Given the description of an element on the screen output the (x, y) to click on. 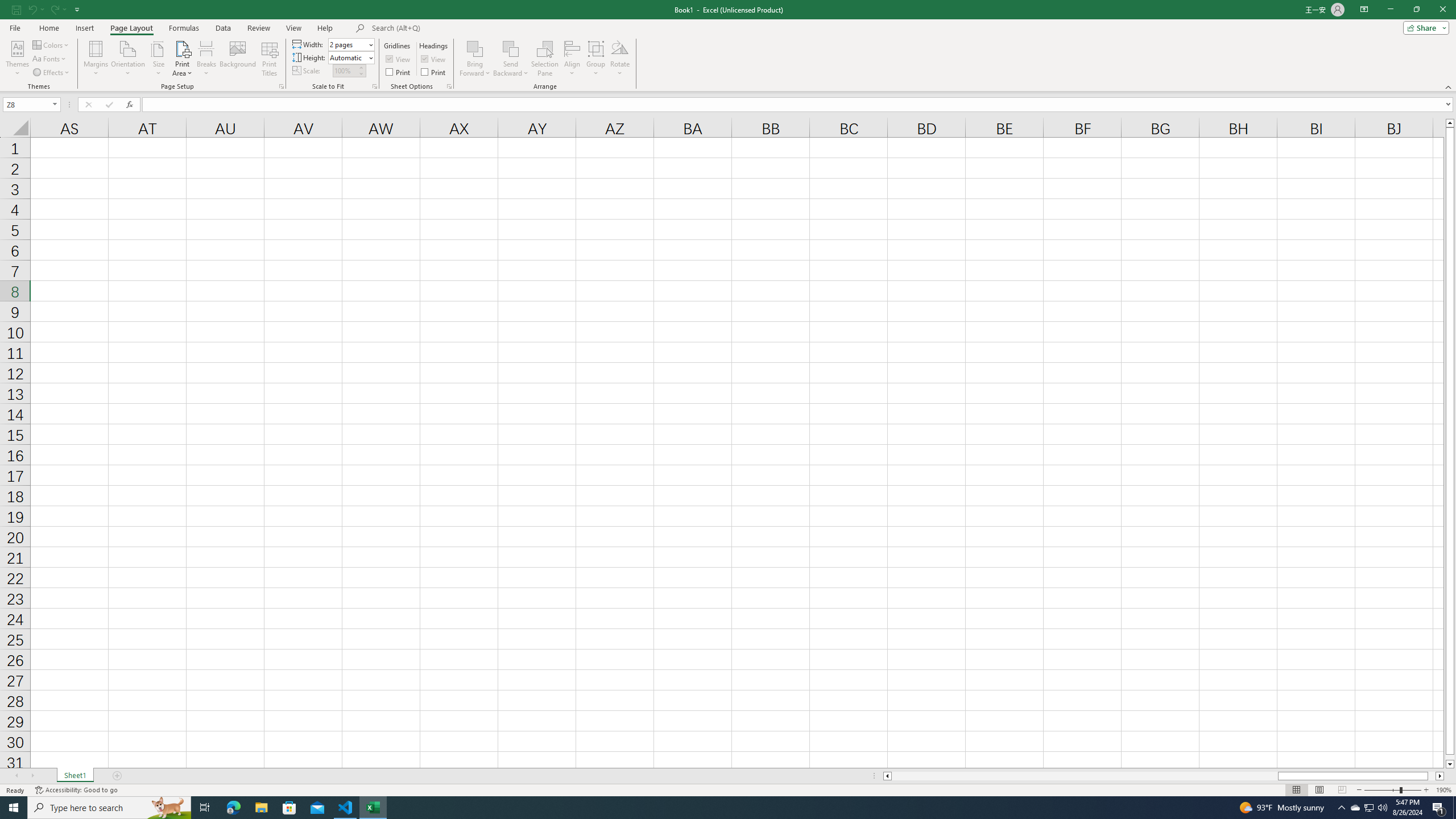
Send Backward (510, 58)
Colors (51, 44)
Sheet Options (449, 85)
More (360, 67)
